Given the description of an element on the screen output the (x, y) to click on. 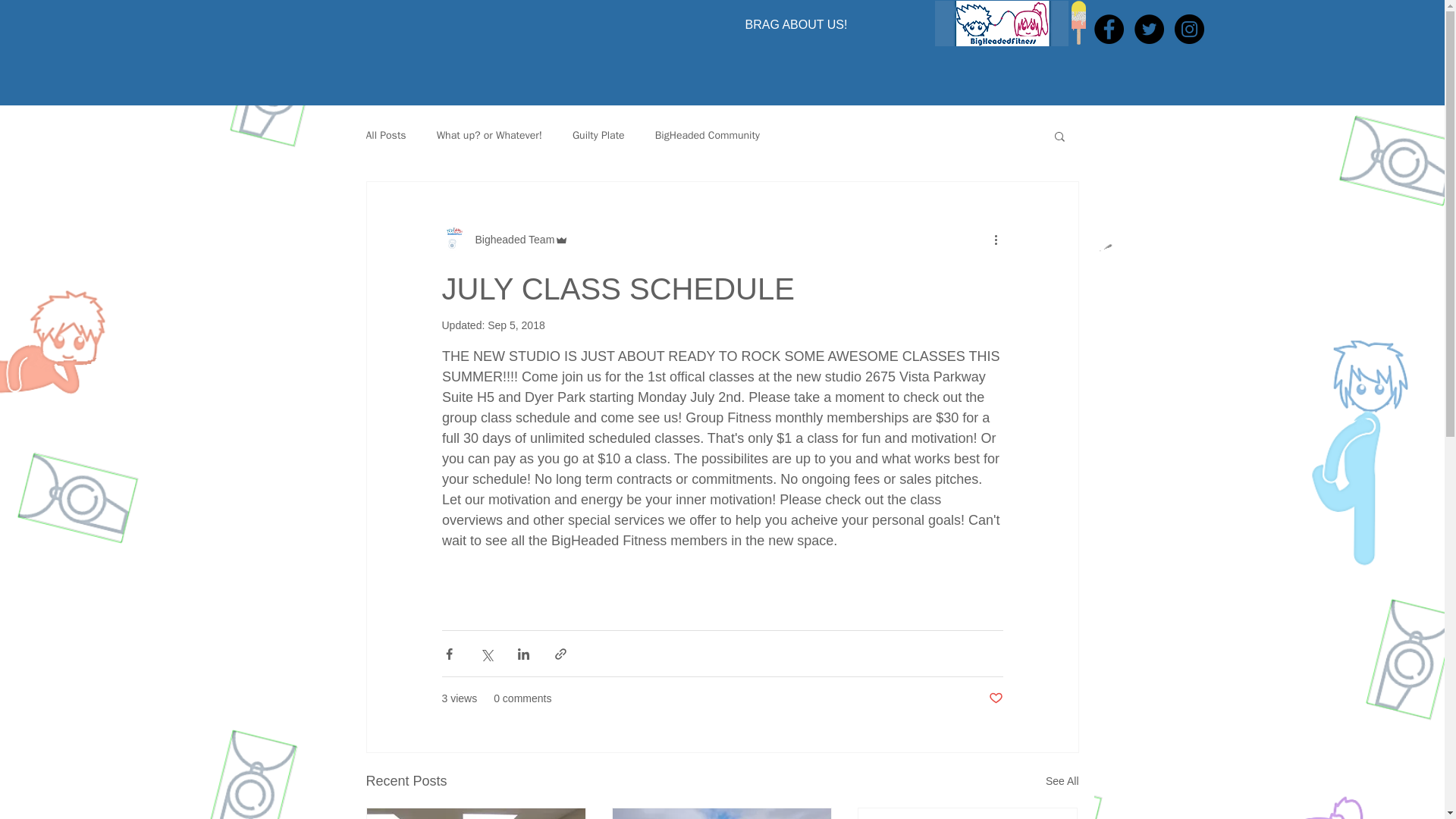
BigHeaded Community (707, 135)
Bigheaded Team (509, 239)
See All (1061, 781)
Guilty Plate (598, 135)
Sep 5, 2018 (515, 325)
Post not marked as liked (995, 698)
What up? or Whatever! (488, 135)
All Posts (385, 135)
